Given the description of an element on the screen output the (x, y) to click on. 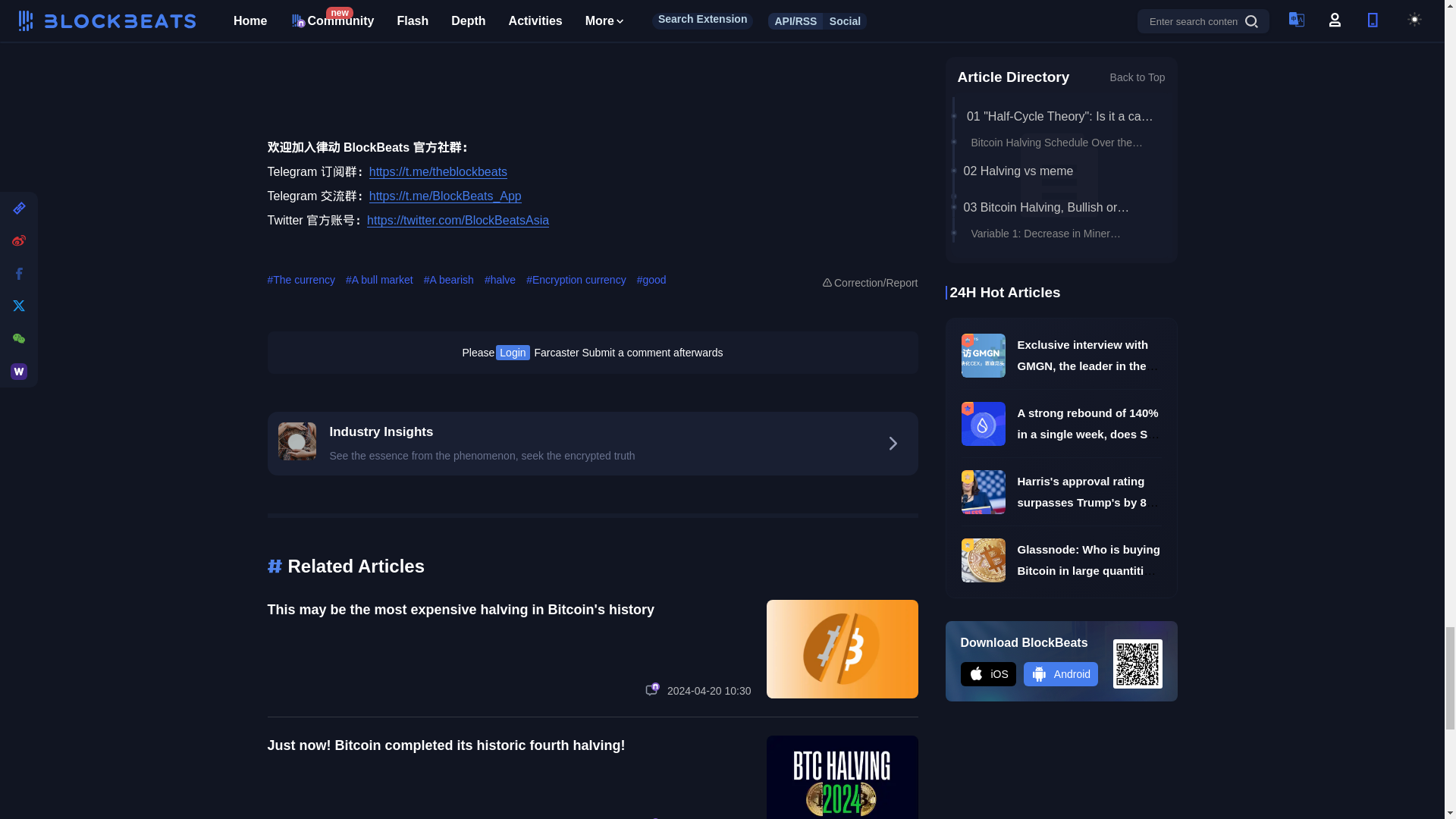
This may be the most expensive halving in Bitcoin's history (459, 609)
Just now! Bitcoin completed its historic fourth halving! (445, 744)
